Given the description of an element on the screen output the (x, y) to click on. 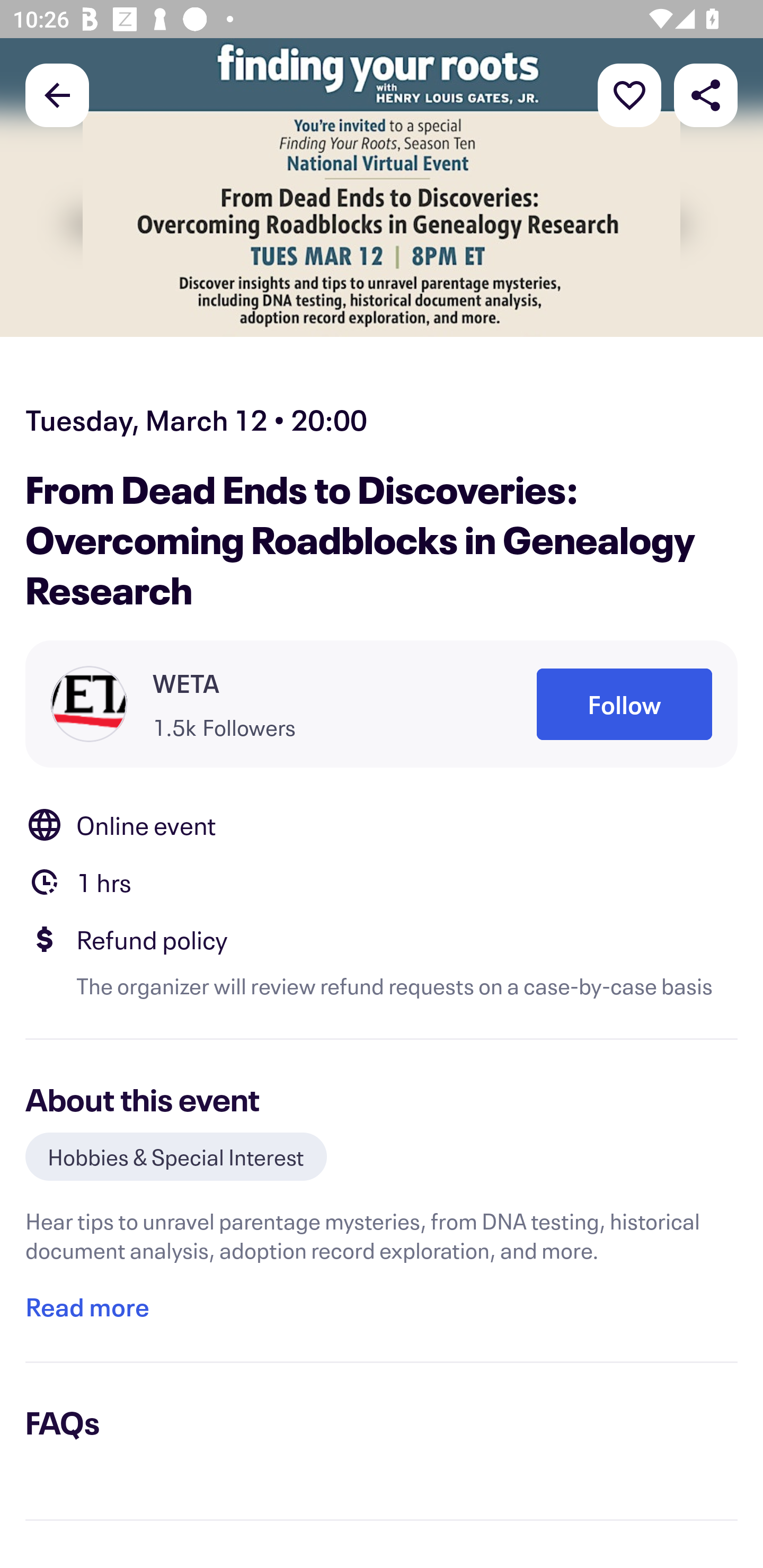
Back (57, 94)
More (629, 94)
Share (705, 94)
WETA (186, 682)
Organizer profile picture (89, 703)
Follow (623, 704)
Location Online event (381, 824)
Read more (87, 1306)
